Given the description of an element on the screen output the (x, y) to click on. 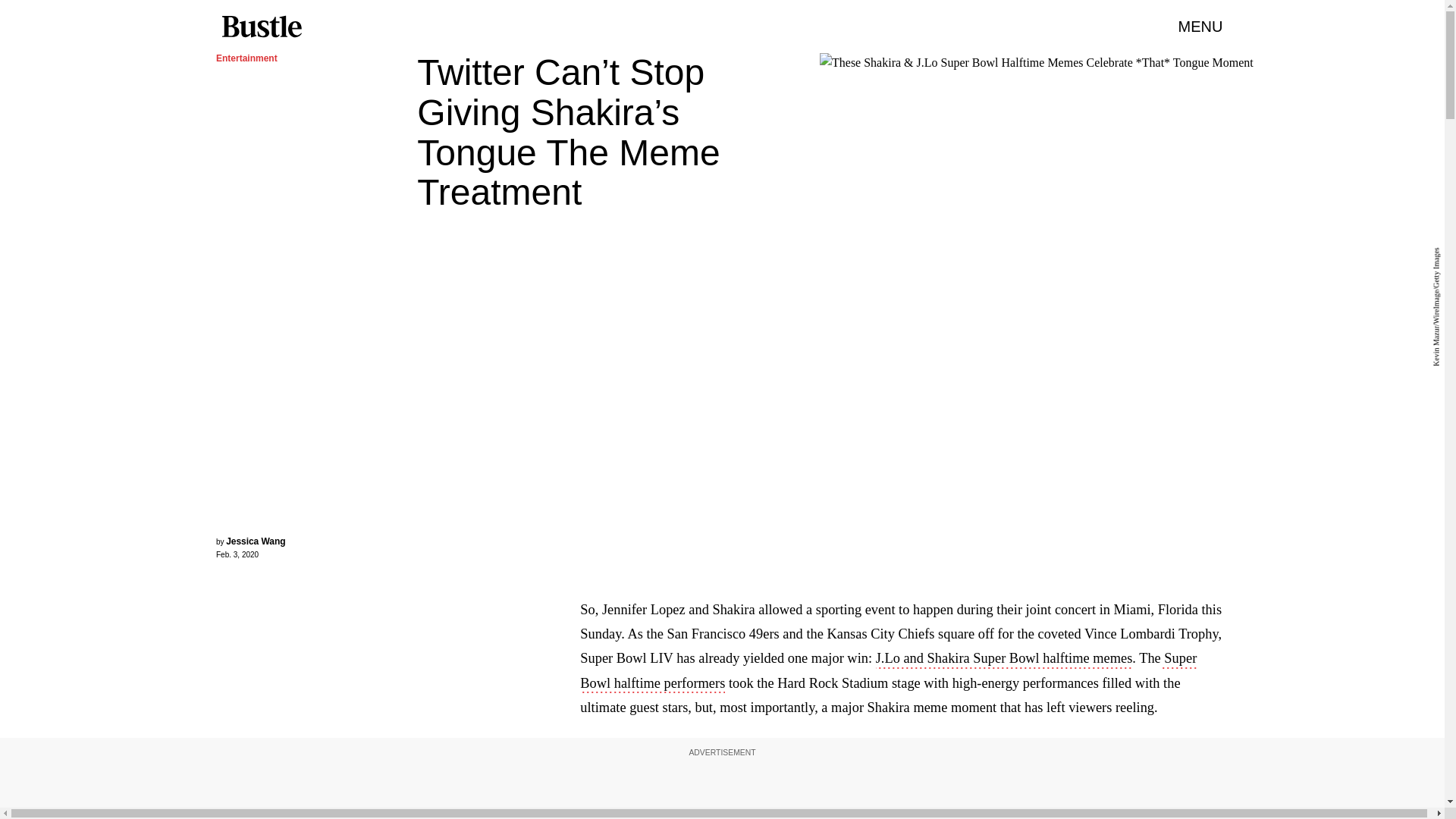
J.Lo and Shakira Super Bowl halftime memes (1004, 659)
Bustle (261, 26)
Super Bowl halftime performers (887, 671)
